Given the description of an element on the screen output the (x, y) to click on. 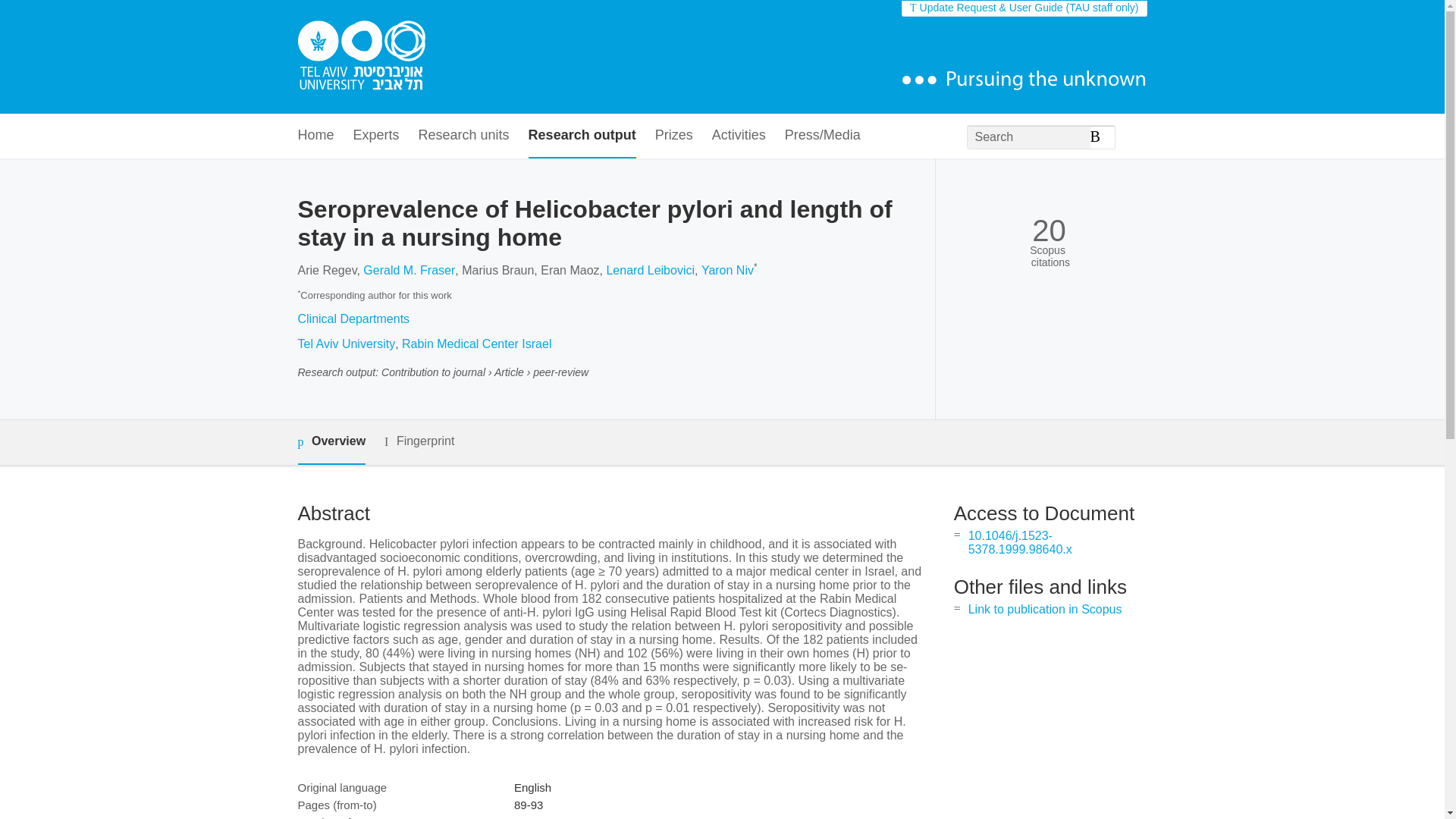
Gerald M. Fraser (408, 269)
Fingerprint (419, 441)
Overview (331, 442)
Tel Aviv University Home (361, 56)
Tel Aviv University (345, 343)
Clinical Departments (353, 318)
Rabin Medical Center Israel (476, 343)
Activities (738, 135)
Lenard Leibovici (649, 269)
Yaron Niv (727, 269)
Link to publication in Scopus (1045, 608)
Research units (464, 135)
Experts (375, 135)
Research output (582, 135)
